Given the description of an element on the screen output the (x, y) to click on. 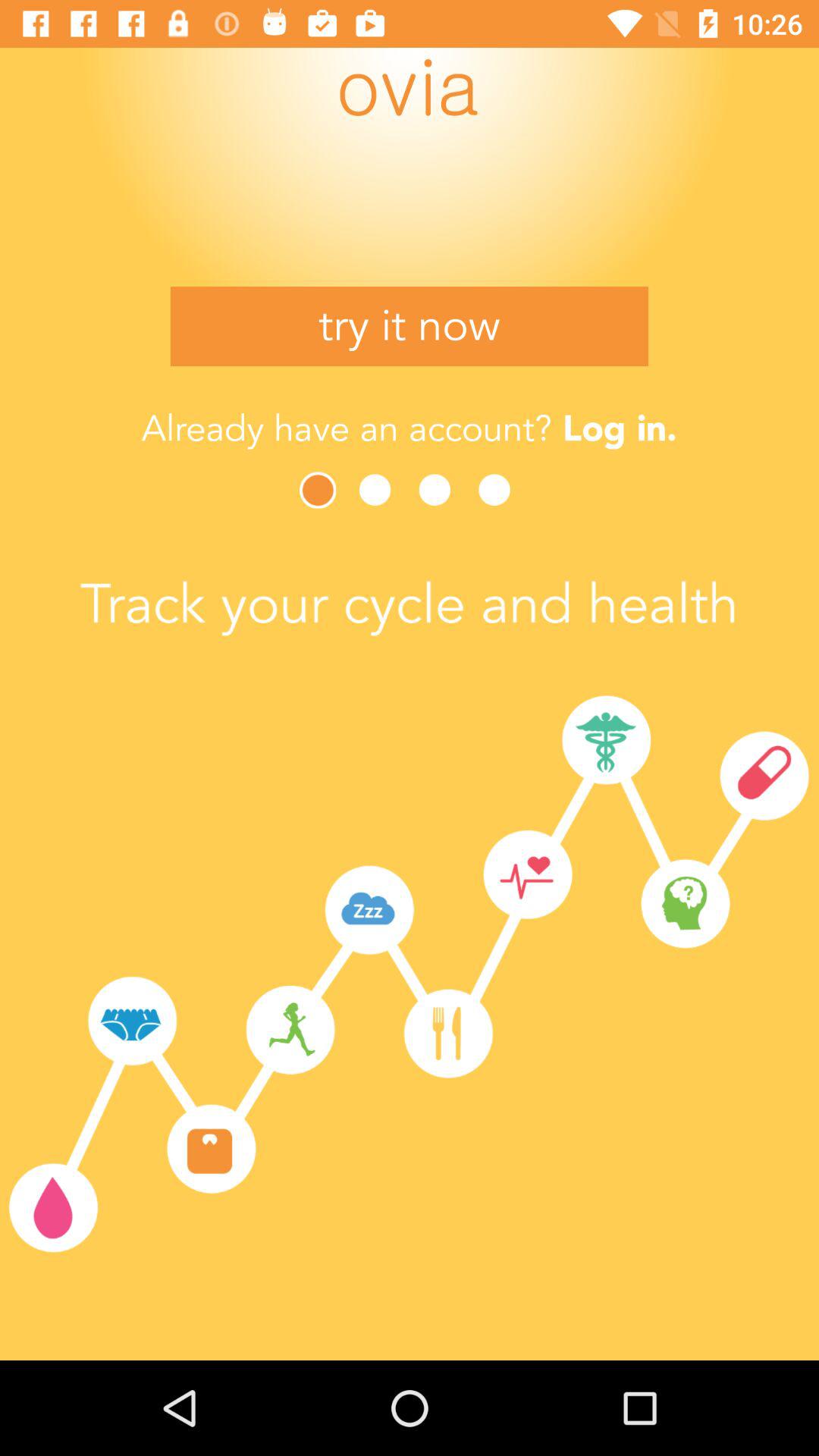
go to next page (379, 490)
